Given the description of an element on the screen output the (x, y) to click on. 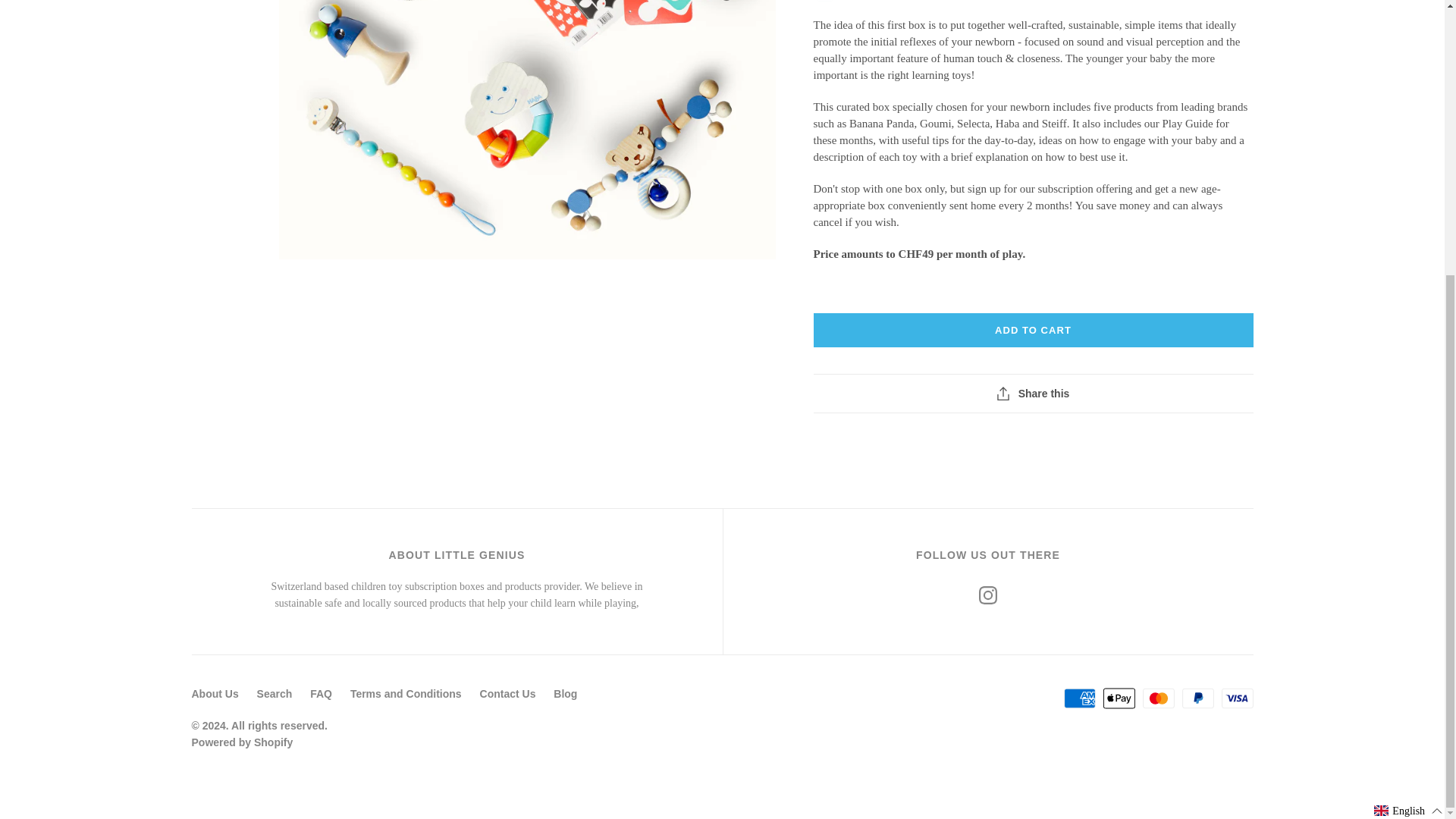
Visa (1236, 698)
Apple Pay (1119, 698)
PayPal (1198, 698)
American Express (1080, 698)
Mastercard (1158, 698)
